Given the description of an element on the screen output the (x, y) to click on. 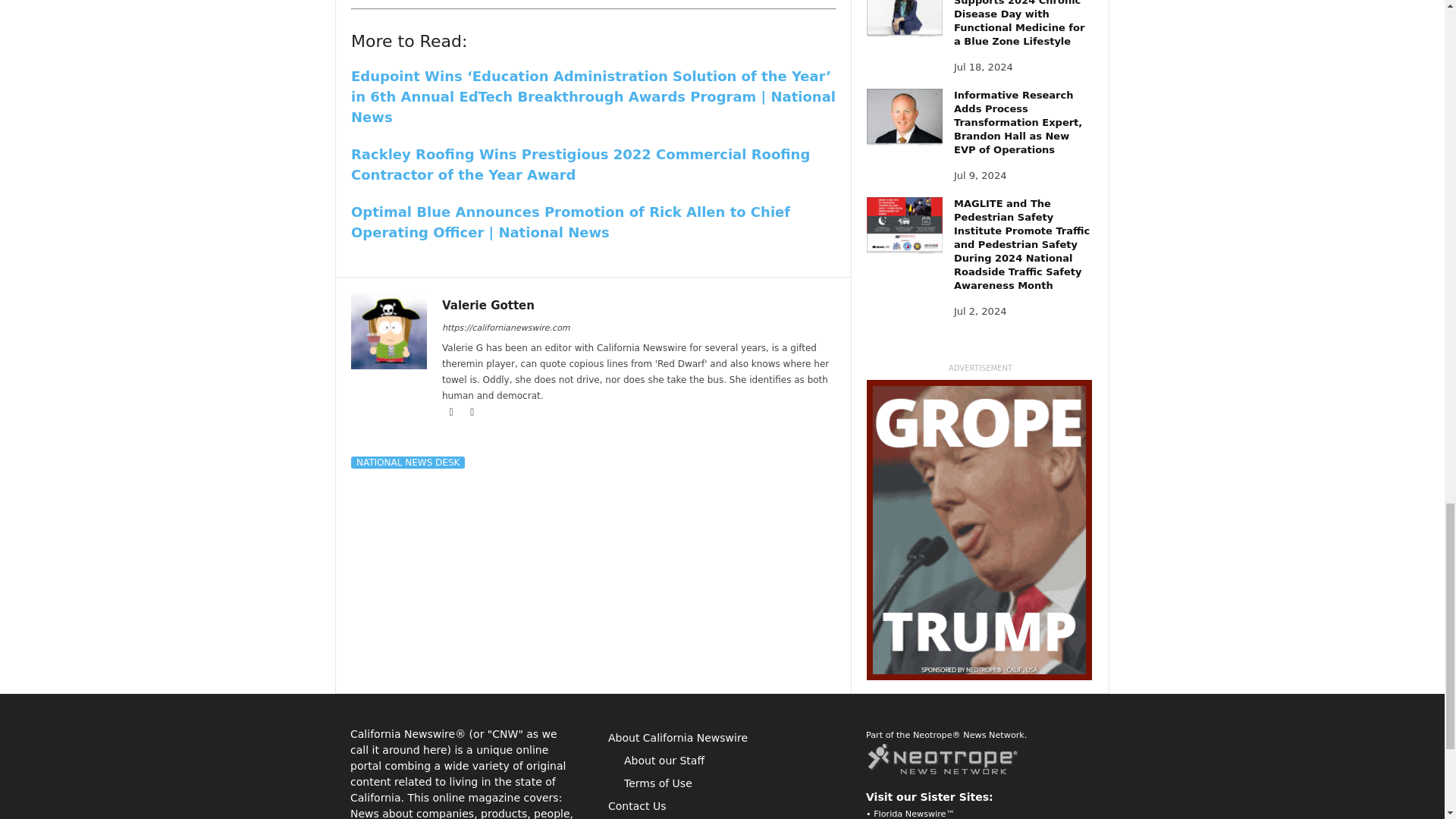
Facebook (452, 412)
Twitter (472, 412)
